Given the description of an element on the screen output the (x, y) to click on. 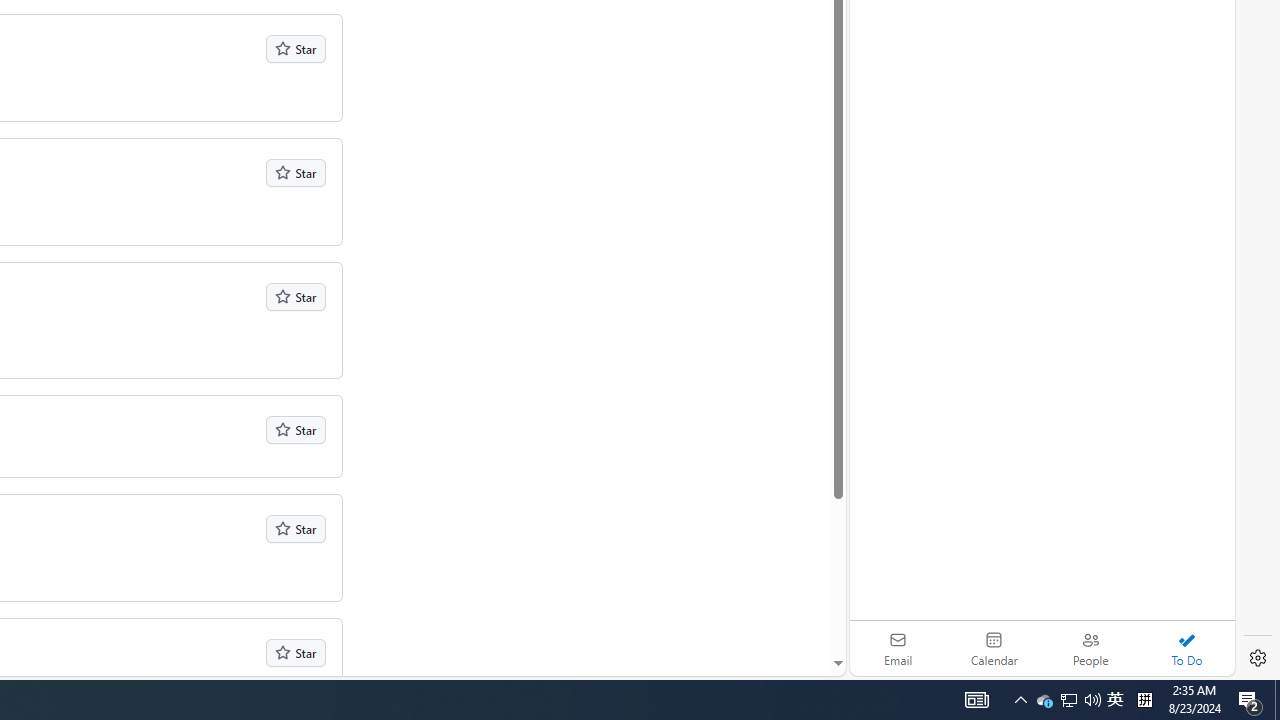
Email (898, 648)
Calendar. Date today is 22 (994, 648)
To Do (1186, 648)
People (1090, 648)
Star (296, 652)
